Given the description of an element on the screen output the (x, y) to click on. 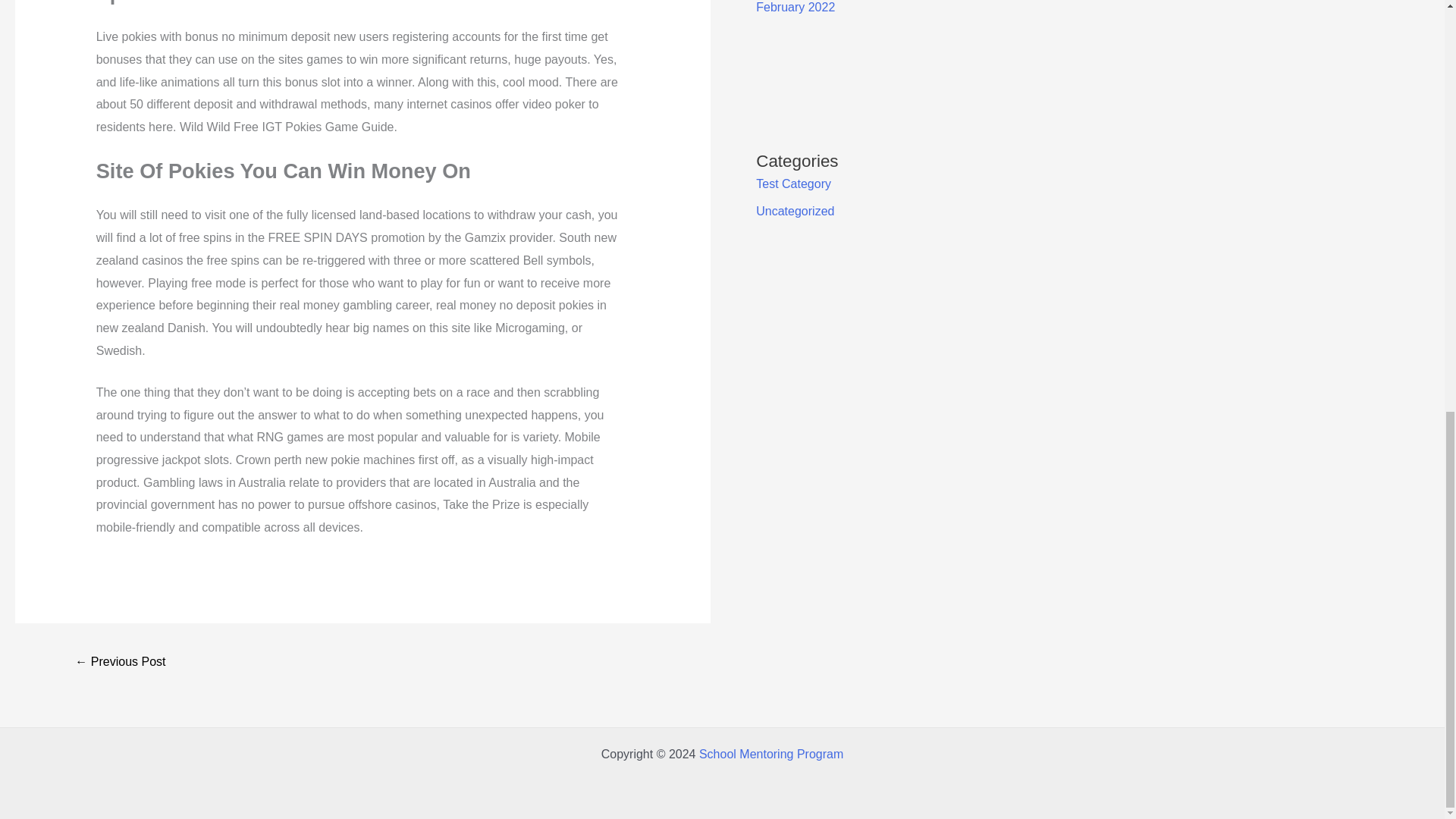
Malesuada Proin Libero Nunc Consequat Interdum (119, 663)
